Given the description of an element on the screen output the (x, y) to click on. 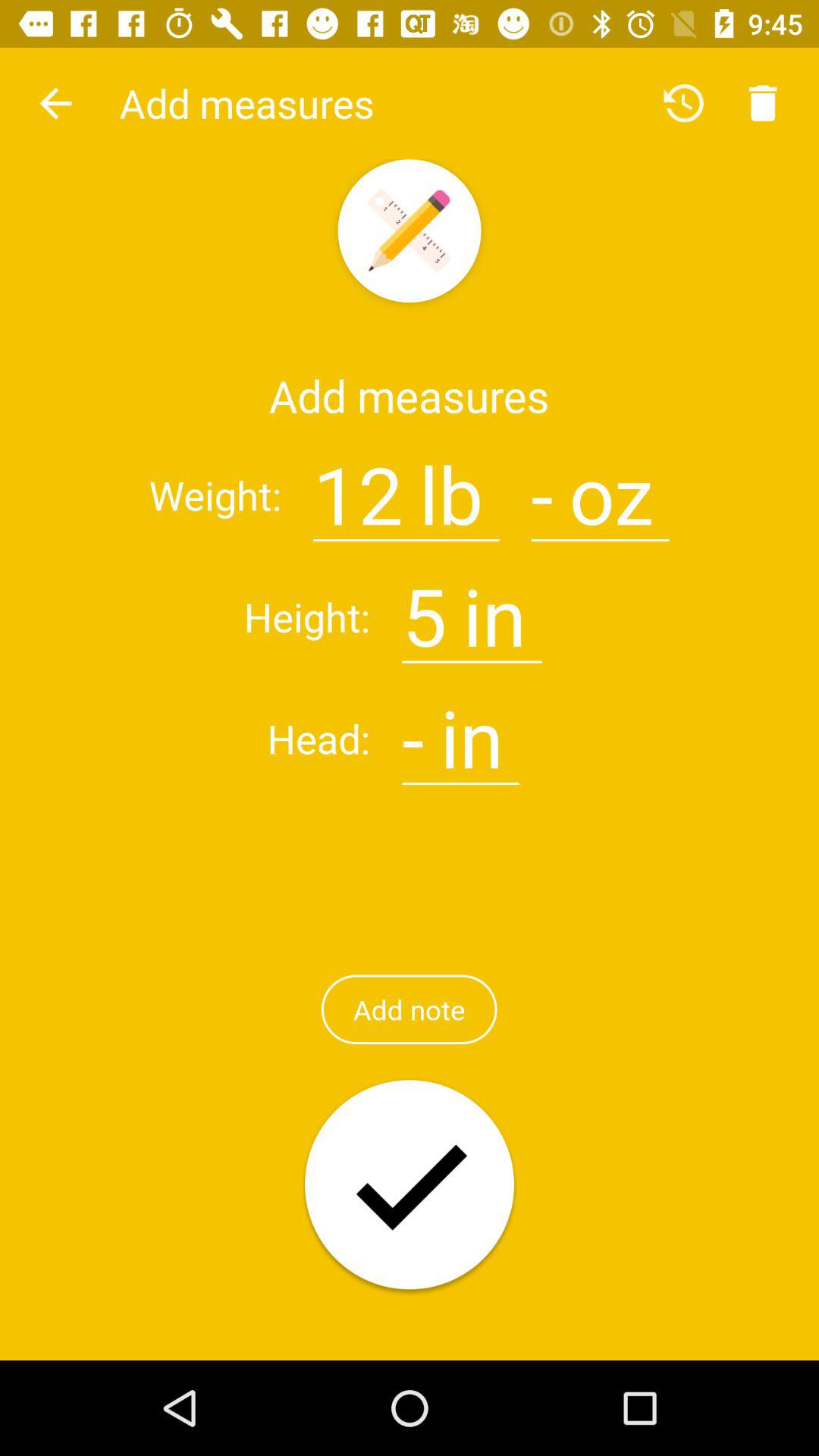
flip to the 5 item (424, 607)
